Given the description of an element on the screen output the (x, y) to click on. 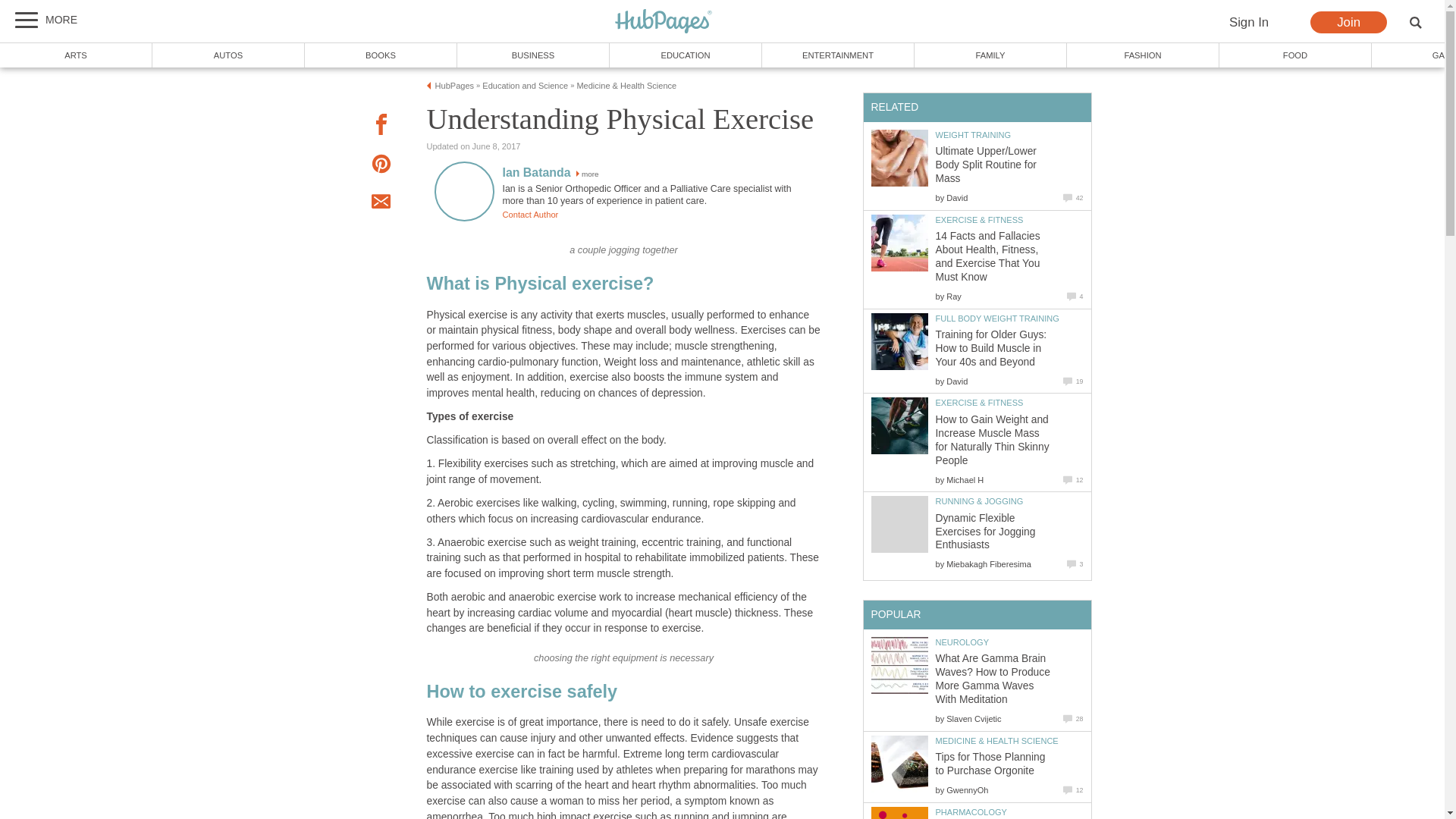
AUTOS (228, 55)
Email (380, 203)
HubPages (663, 21)
Tips for Those Planning to Purchase Orgonite (898, 763)
ARTS (76, 55)
FOOD (1295, 55)
Sign In (1248, 22)
Join (1348, 22)
